Given the description of an element on the screen output the (x, y) to click on. 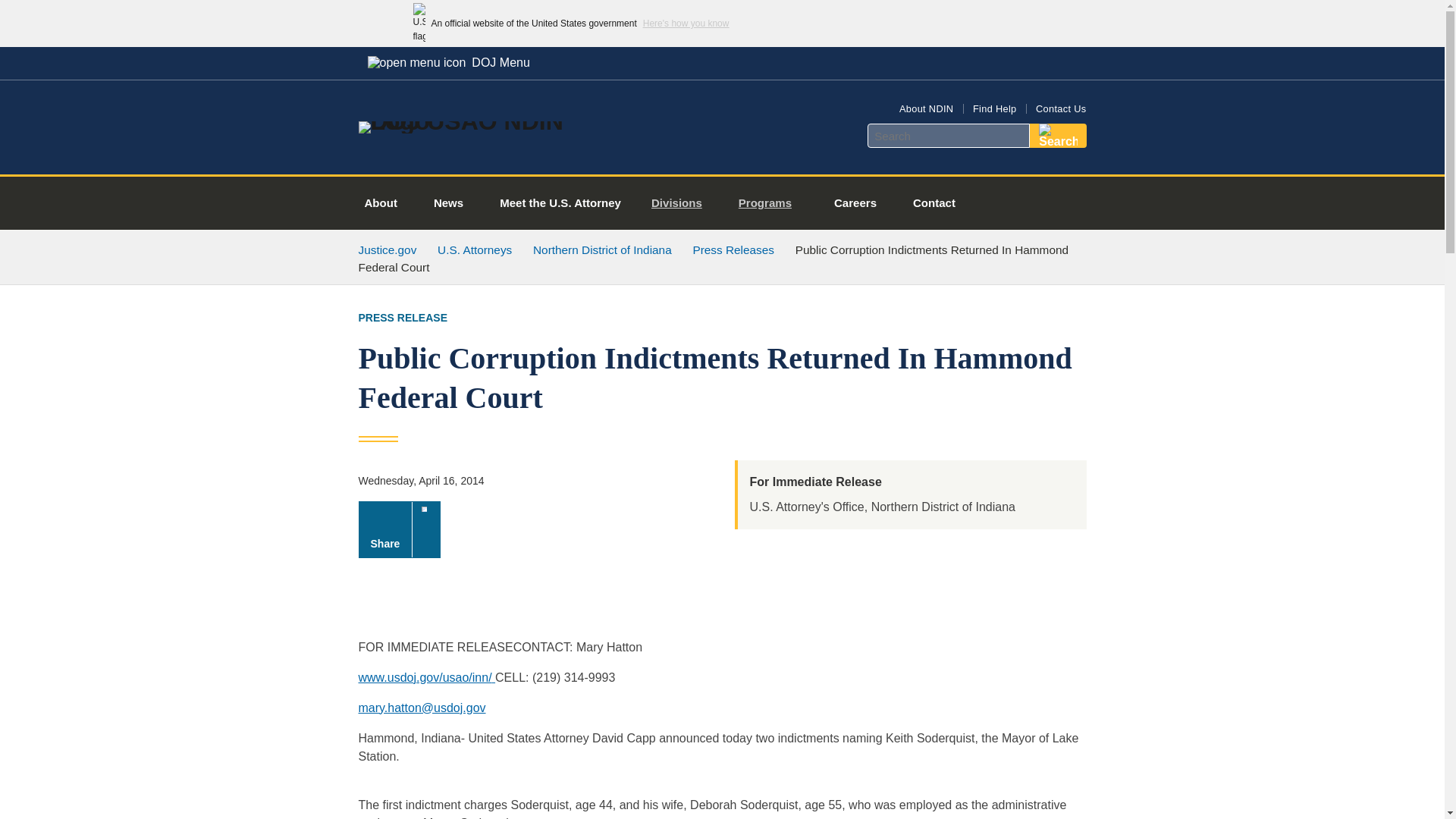
Here's how you know (686, 23)
Programs (770, 203)
U.S. Attorneys (475, 249)
Justice.gov (387, 249)
Contact (934, 203)
Share (398, 529)
Find Help (994, 108)
About NDIN (926, 108)
Northern District of Indiana (601, 249)
Home (481, 121)
Meet the U.S. Attorney (560, 203)
Contact Us (1060, 108)
Divisions (682, 203)
Careers (855, 203)
News (447, 203)
